Given the description of an element on the screen output the (x, y) to click on. 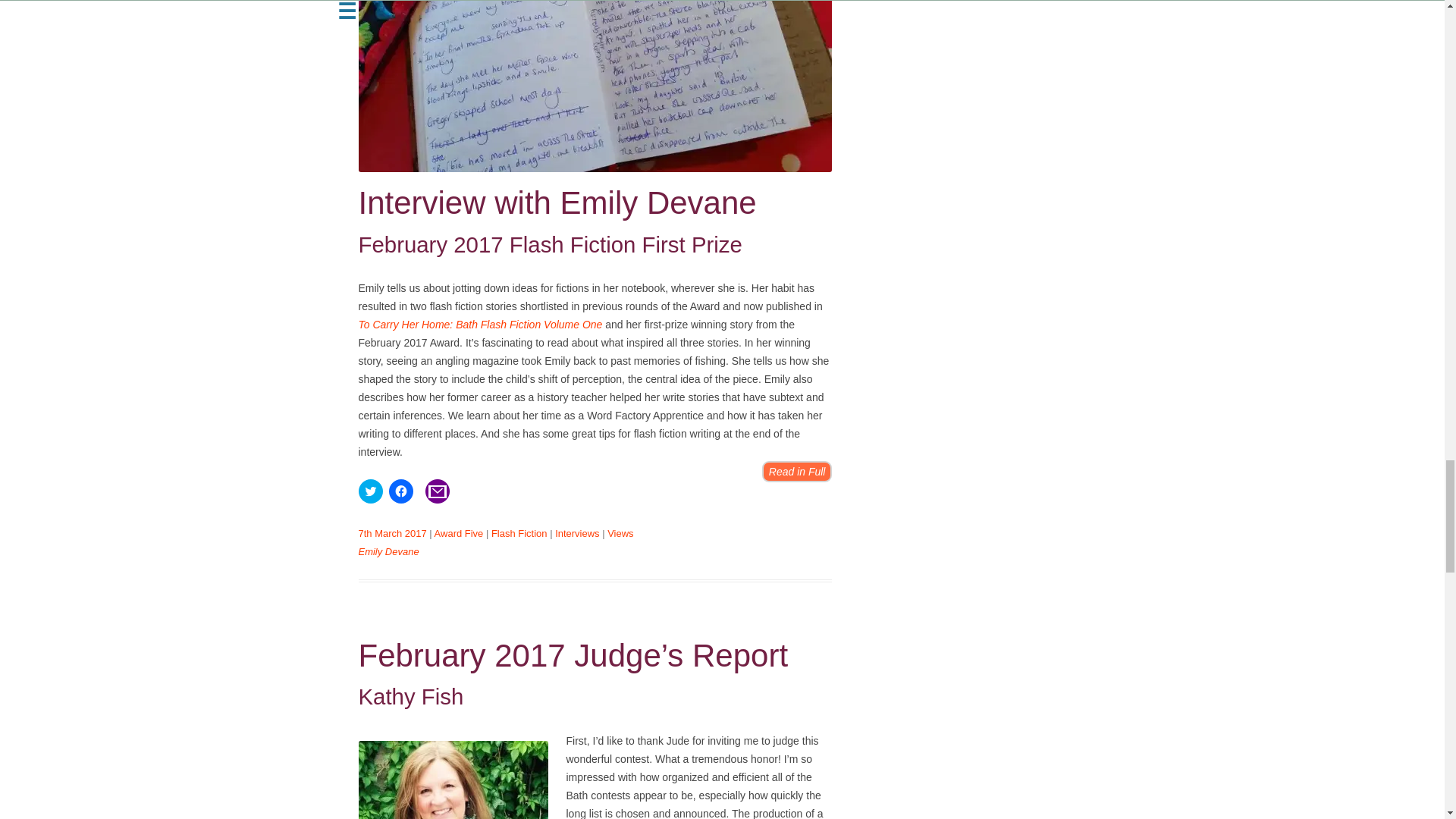
Click to share on Facebook (400, 491)
Click to share by email (436, 491)
Click to share on Twitter (369, 491)
10:00 am (392, 532)
